Given the description of an element on the screen output the (x, y) to click on. 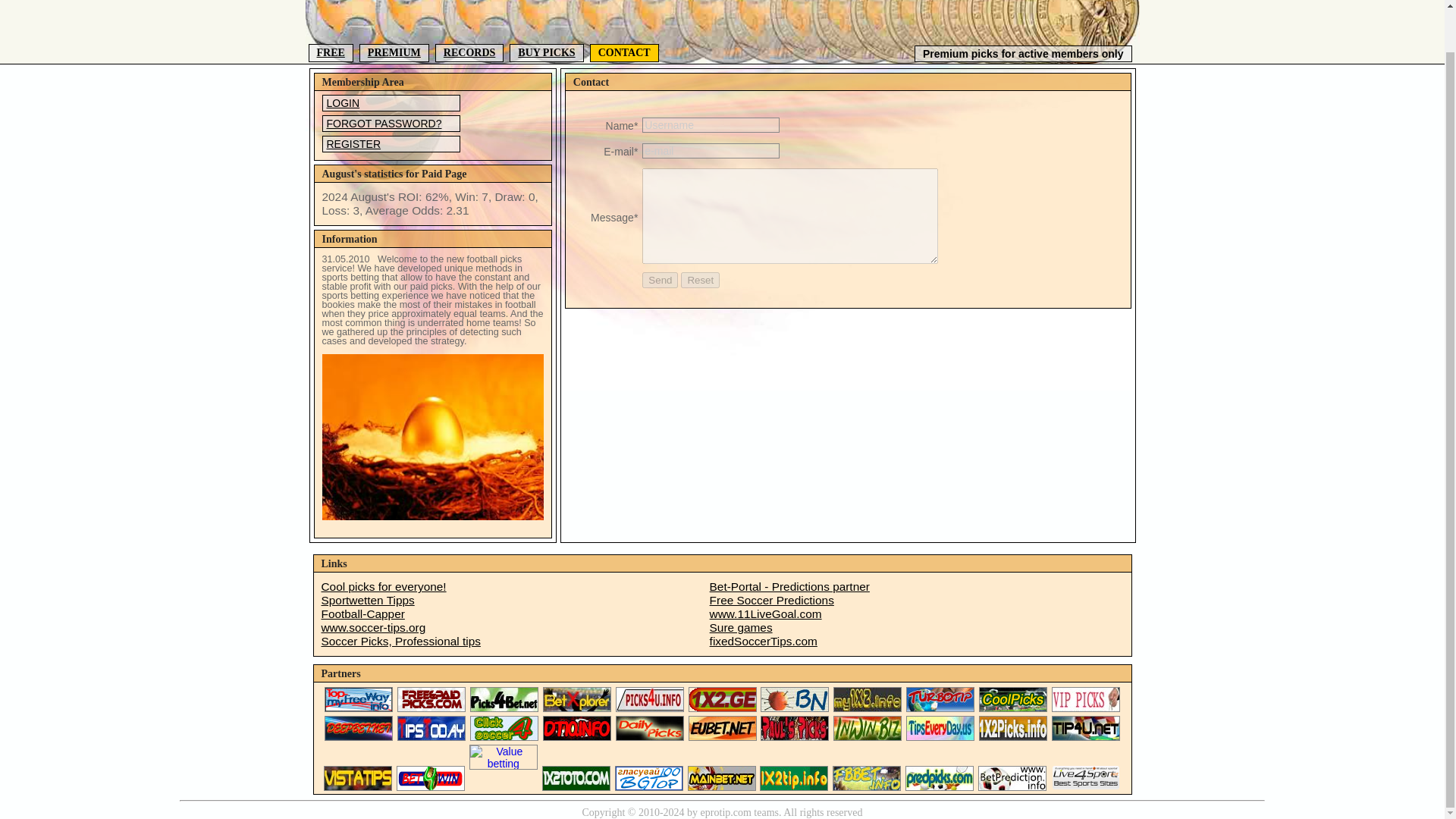
www.soccer-tips.org (513, 627)
Sportwetten Tipps (513, 600)
Reset (700, 279)
RECORDS (469, 53)
www.football-capper.com (513, 613)
LOGIN (390, 103)
www.coolpicks.info (513, 586)
FREE (329, 53)
Send (660, 279)
Soccer Picks, Professional tips (513, 641)
